Given the description of an element on the screen output the (x, y) to click on. 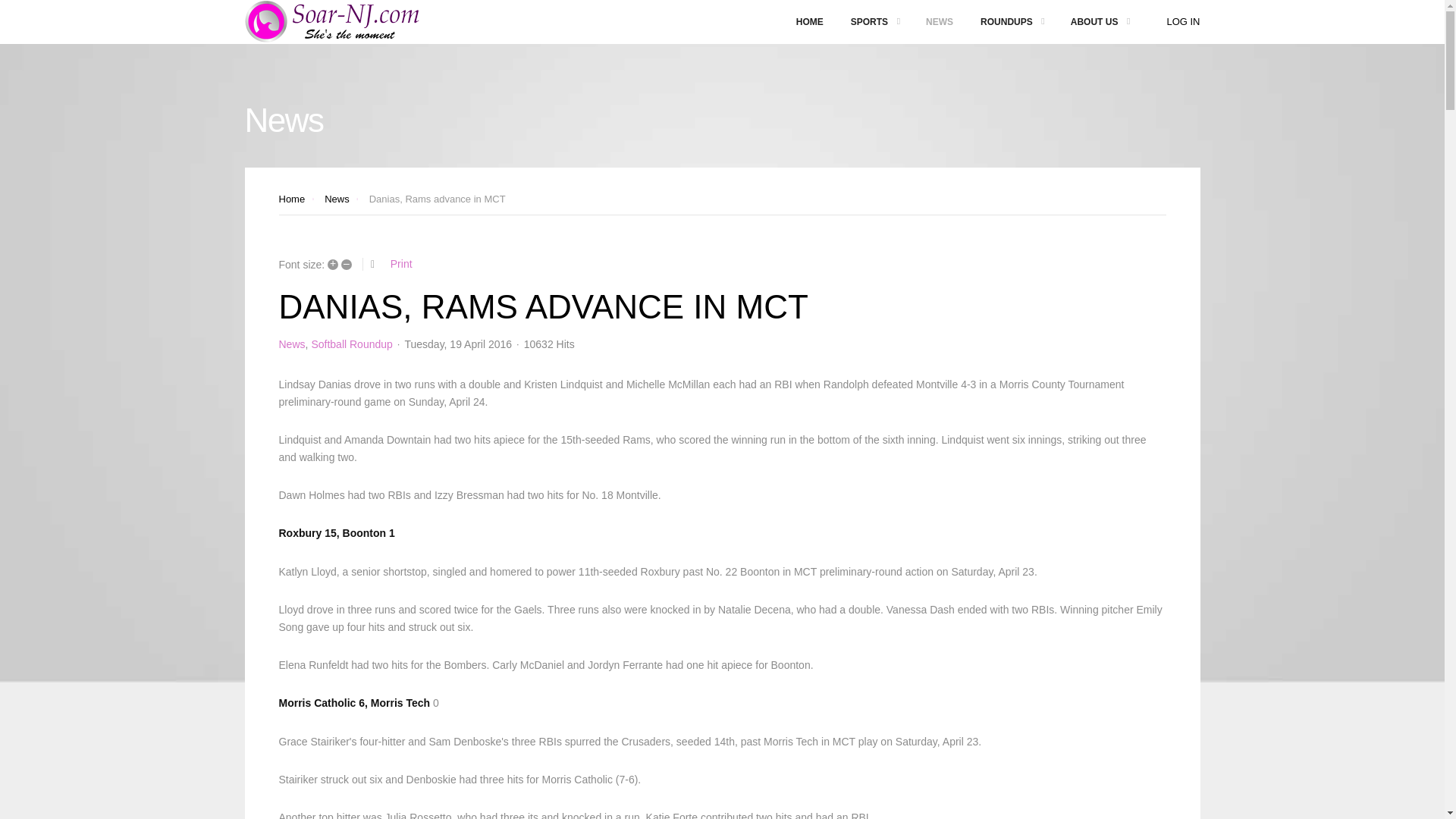
SPORTS (874, 22)
Print (401, 263)
ABOUT US (1099, 22)
NEWS (939, 22)
ROUNDUPS (1011, 22)
HOME (810, 22)
soar-nj (334, 22)
